Given the description of an element on the screen output the (x, y) to click on. 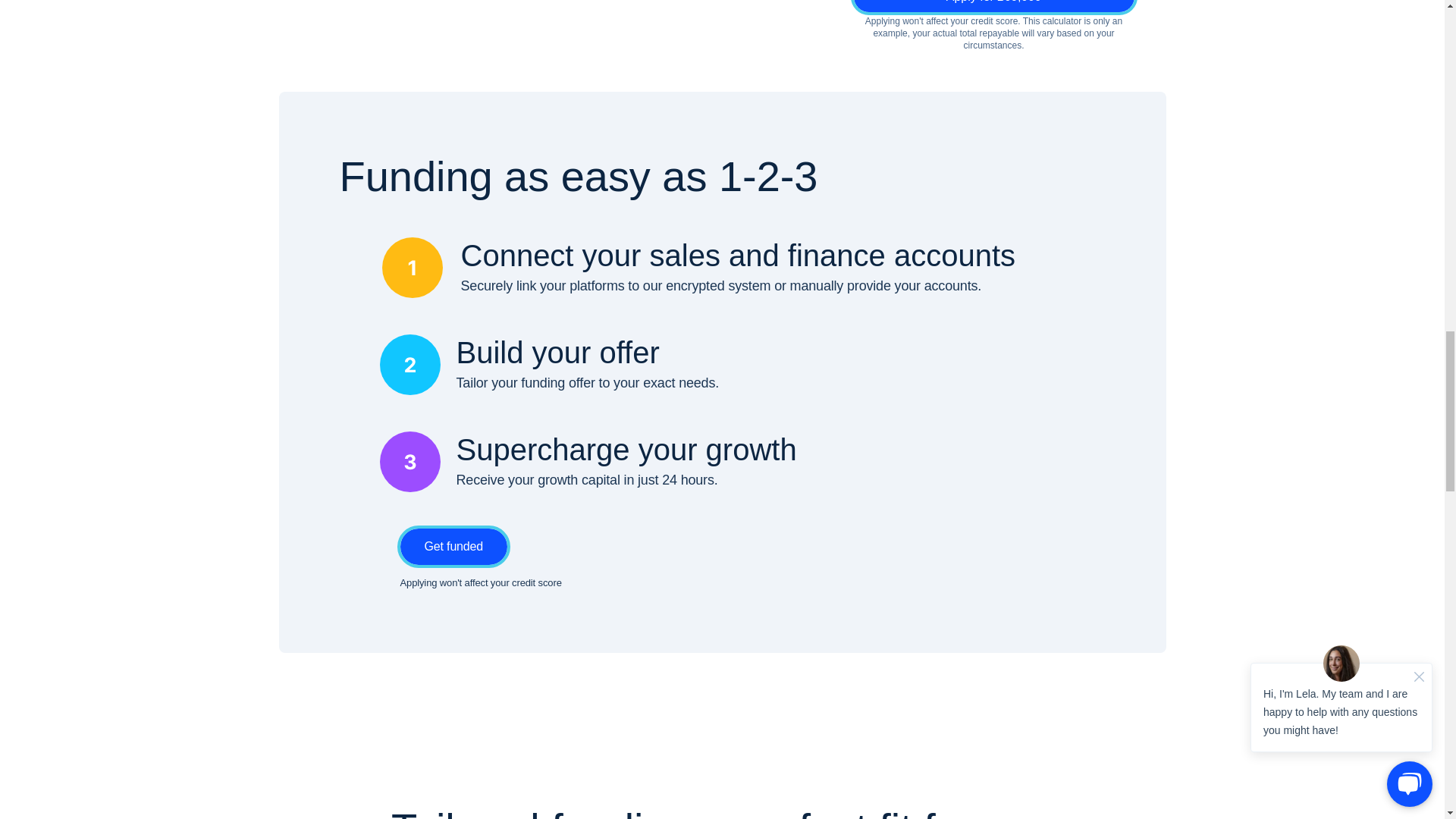
Get funded (454, 545)
